Given the description of an element on the screen output the (x, y) to click on. 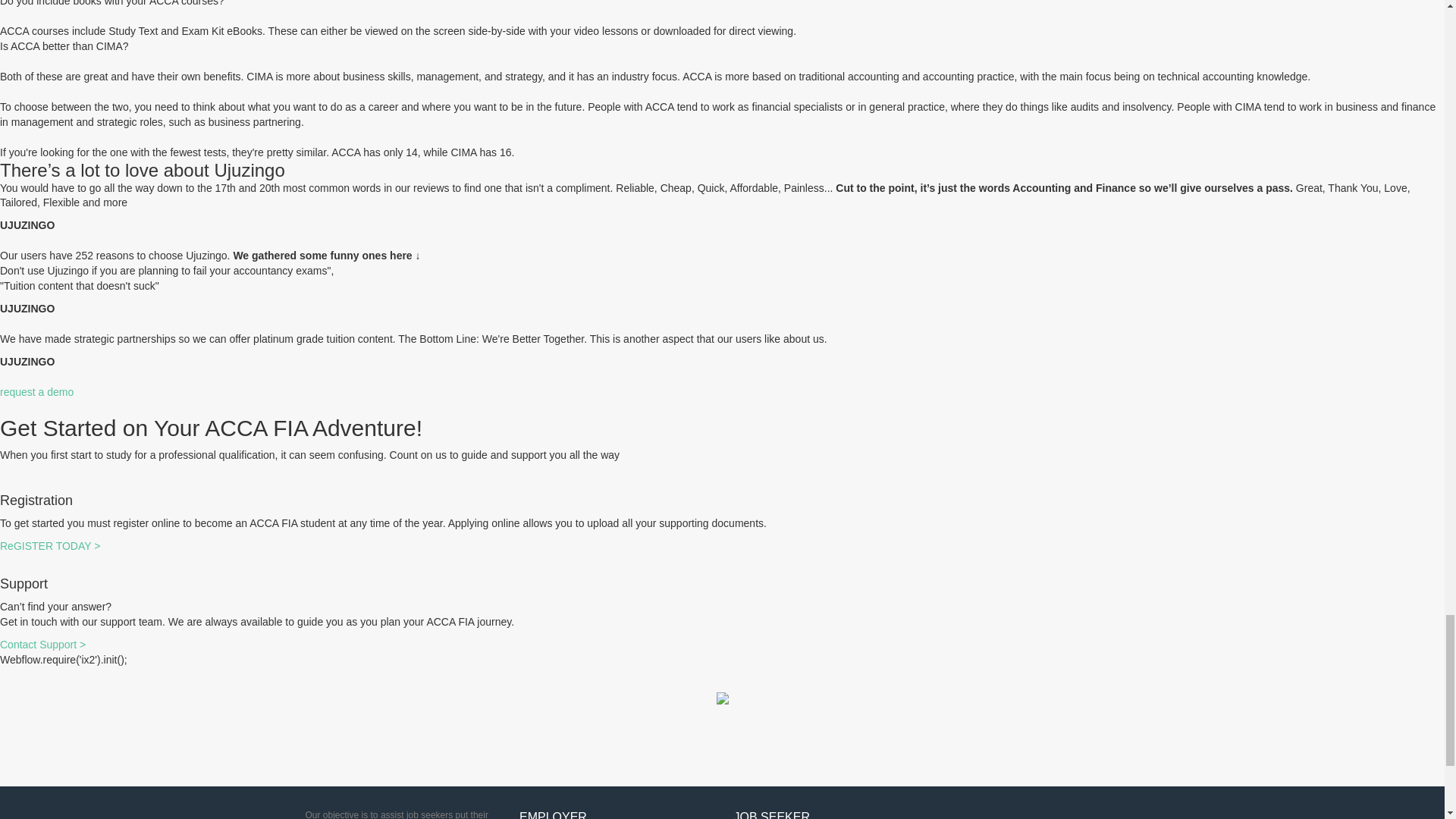
request a demo (37, 391)
